Given the description of an element on the screen output the (x, y) to click on. 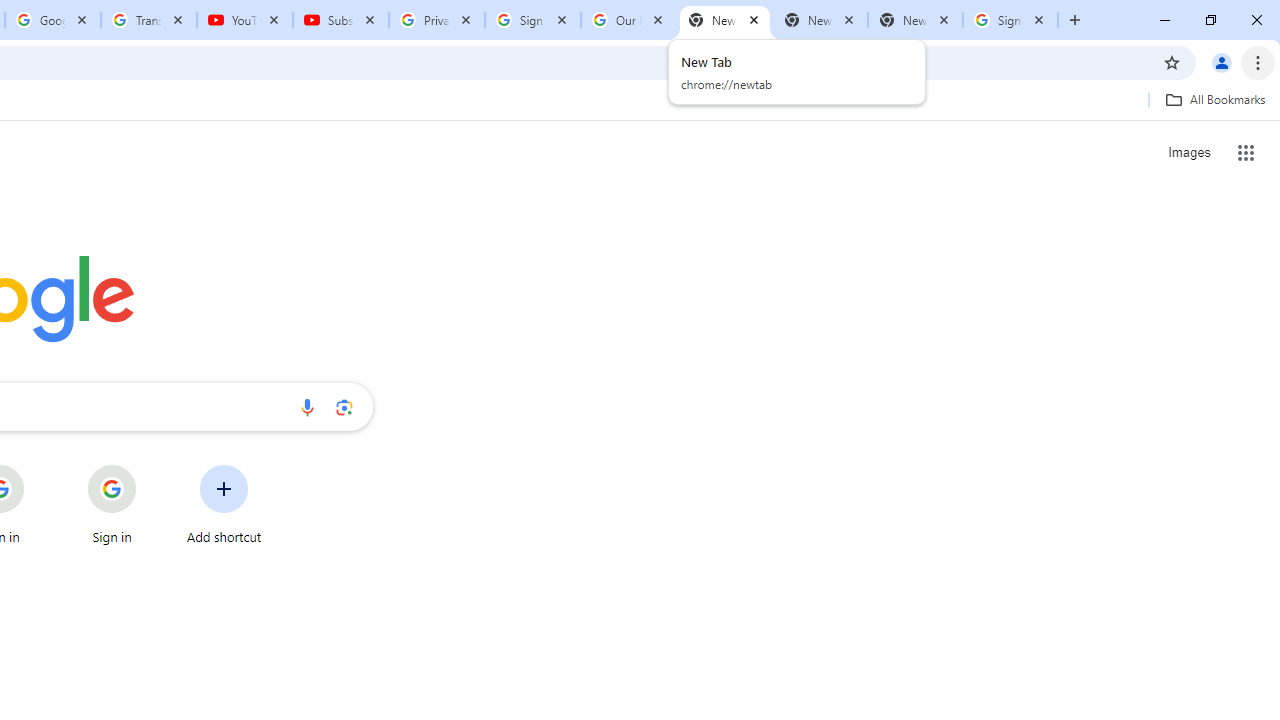
YouTube (245, 20)
New Tab (914, 20)
Sign in - Google Accounts (1010, 20)
Search for Images  (1188, 152)
Subscriptions - YouTube (341, 20)
Search by image (344, 407)
Add shortcut (223, 504)
More actions for Sign in shortcut (152, 466)
